Given the description of an element on the screen output the (x, y) to click on. 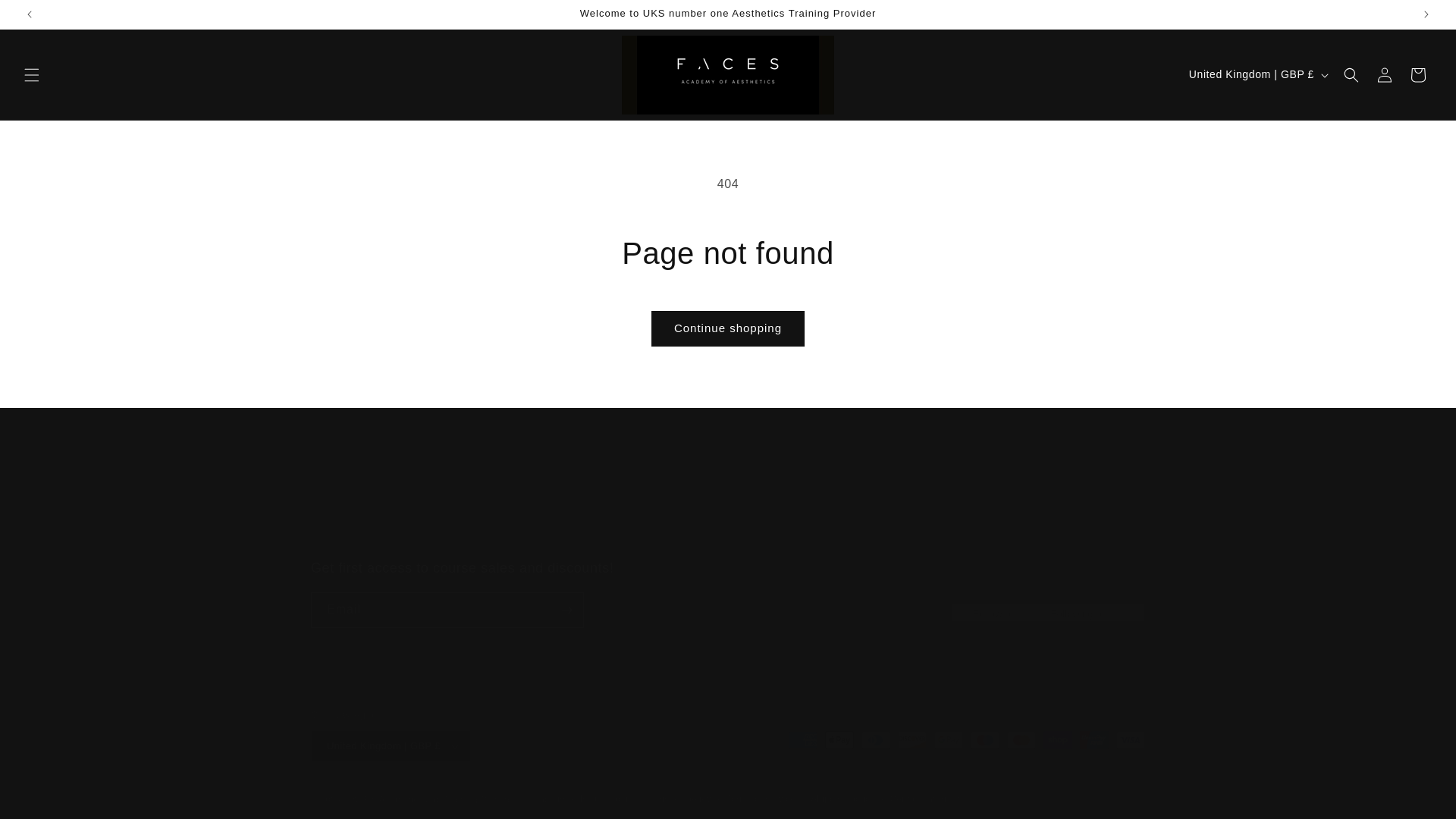
Discounted Wholesale (652, 510)
Cart (1417, 73)
Contact (971, 510)
Log in (1384, 73)
Insurance (854, 510)
Courses (473, 513)
FACES Aesthetics and Training (411, 798)
Continue shopping (727, 328)
Finance (727, 593)
Skip to content (916, 510)
Appointments (45, 17)
